Given the description of an element on the screen output the (x, y) to click on. 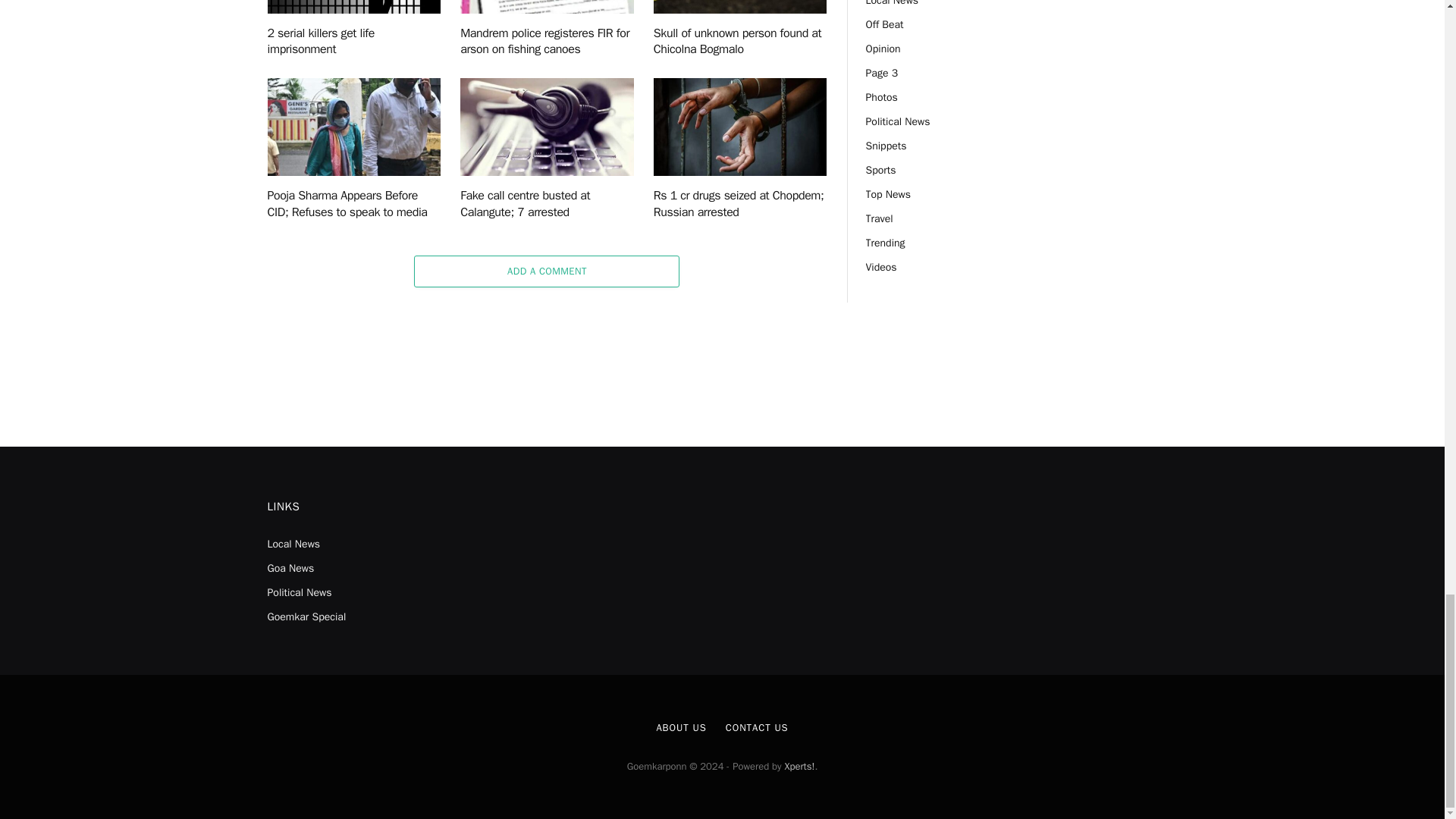
2 serial killers get life imprisonment (353, 6)
